Given the description of an element on the screen output the (x, y) to click on. 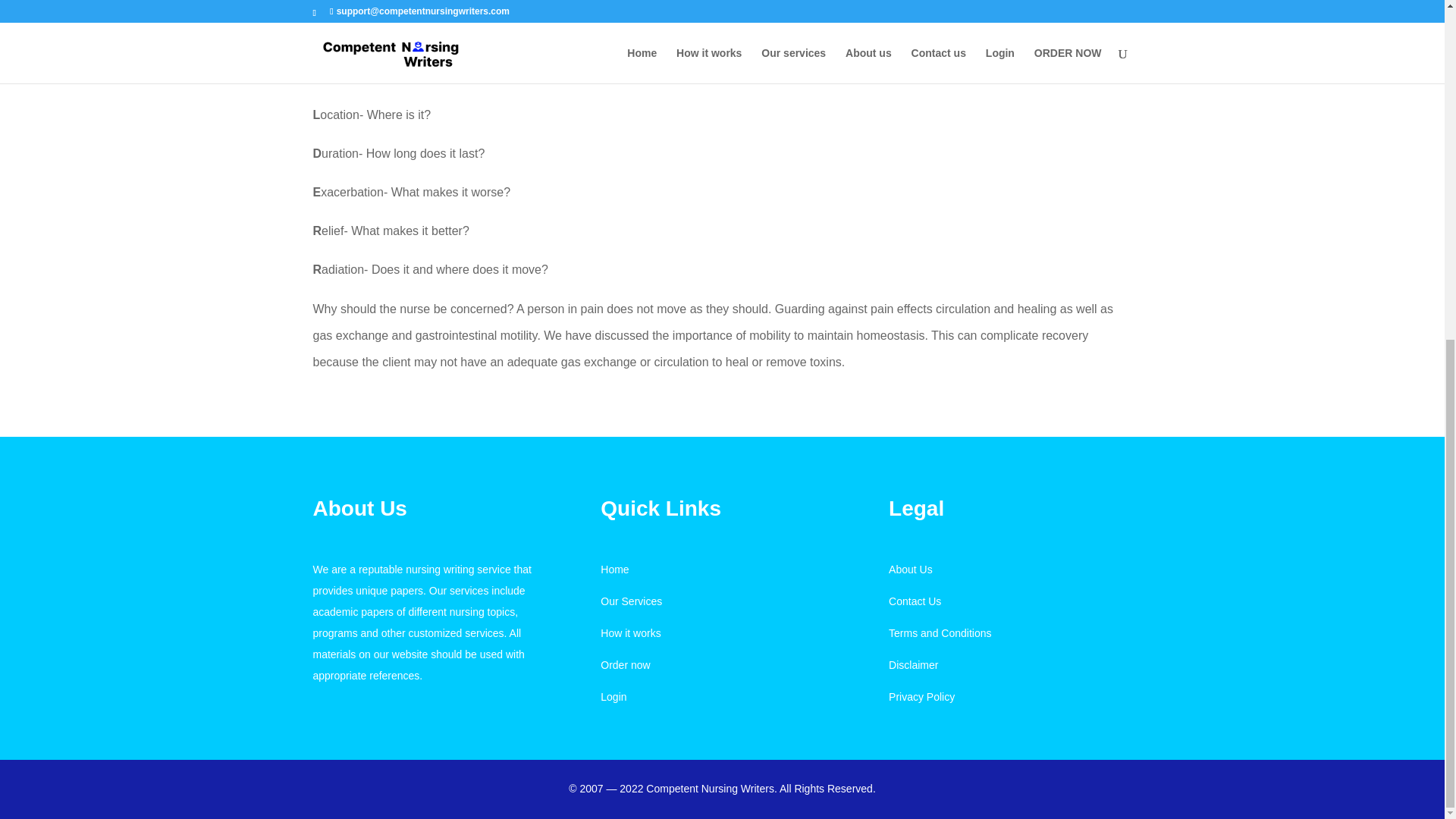
Home (613, 569)
Privacy Policy (921, 696)
How it works (630, 633)
Our Services (630, 601)
Disclaimer (912, 664)
Login (612, 696)
About Us (910, 569)
Contact Us (914, 601)
Order now (624, 664)
Terms and Conditions (939, 633)
